Given the description of an element on the screen output the (x, y) to click on. 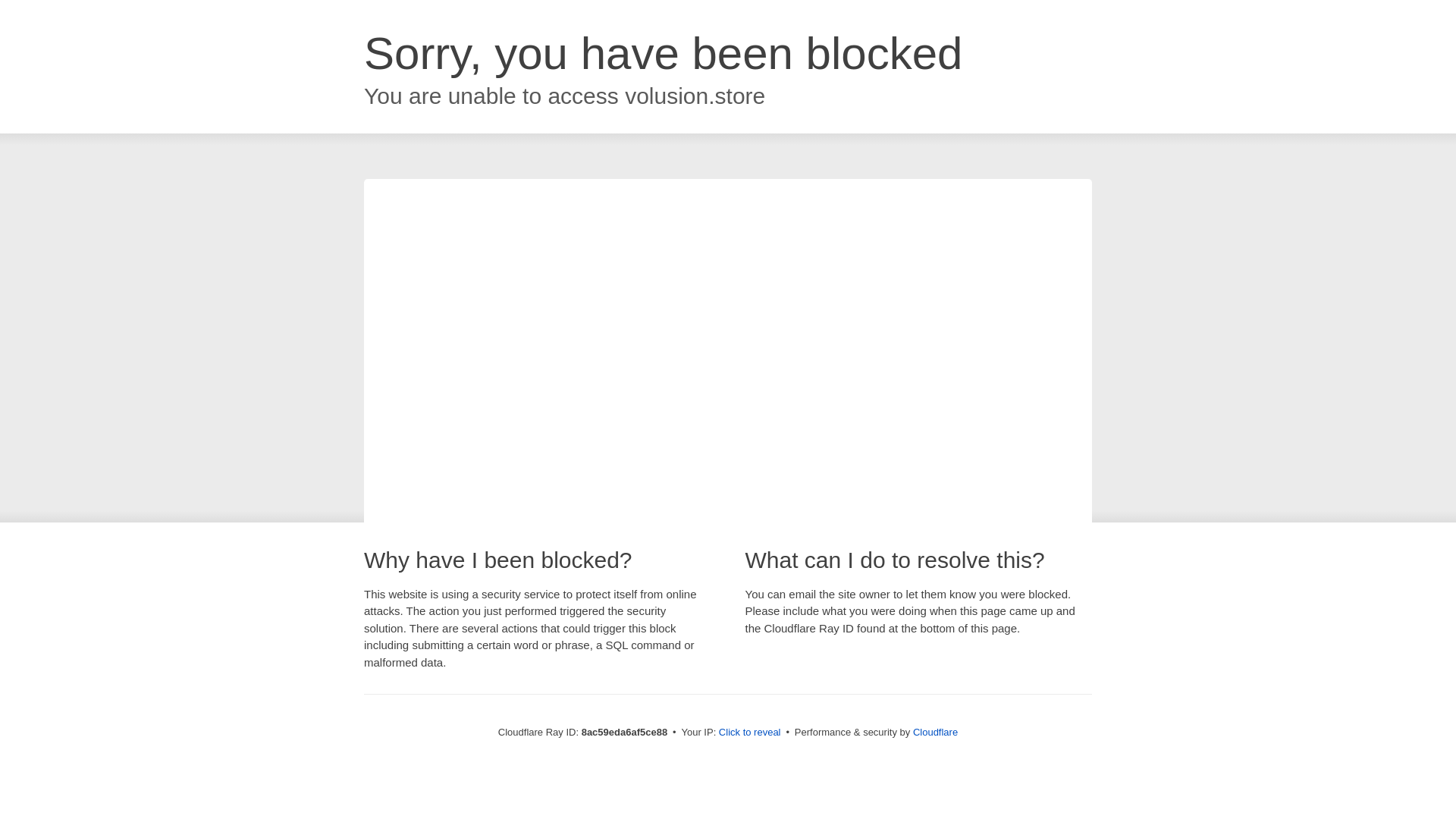
Cloudflare (935, 731)
Click to reveal (749, 732)
